Given the description of an element on the screen output the (x, y) to click on. 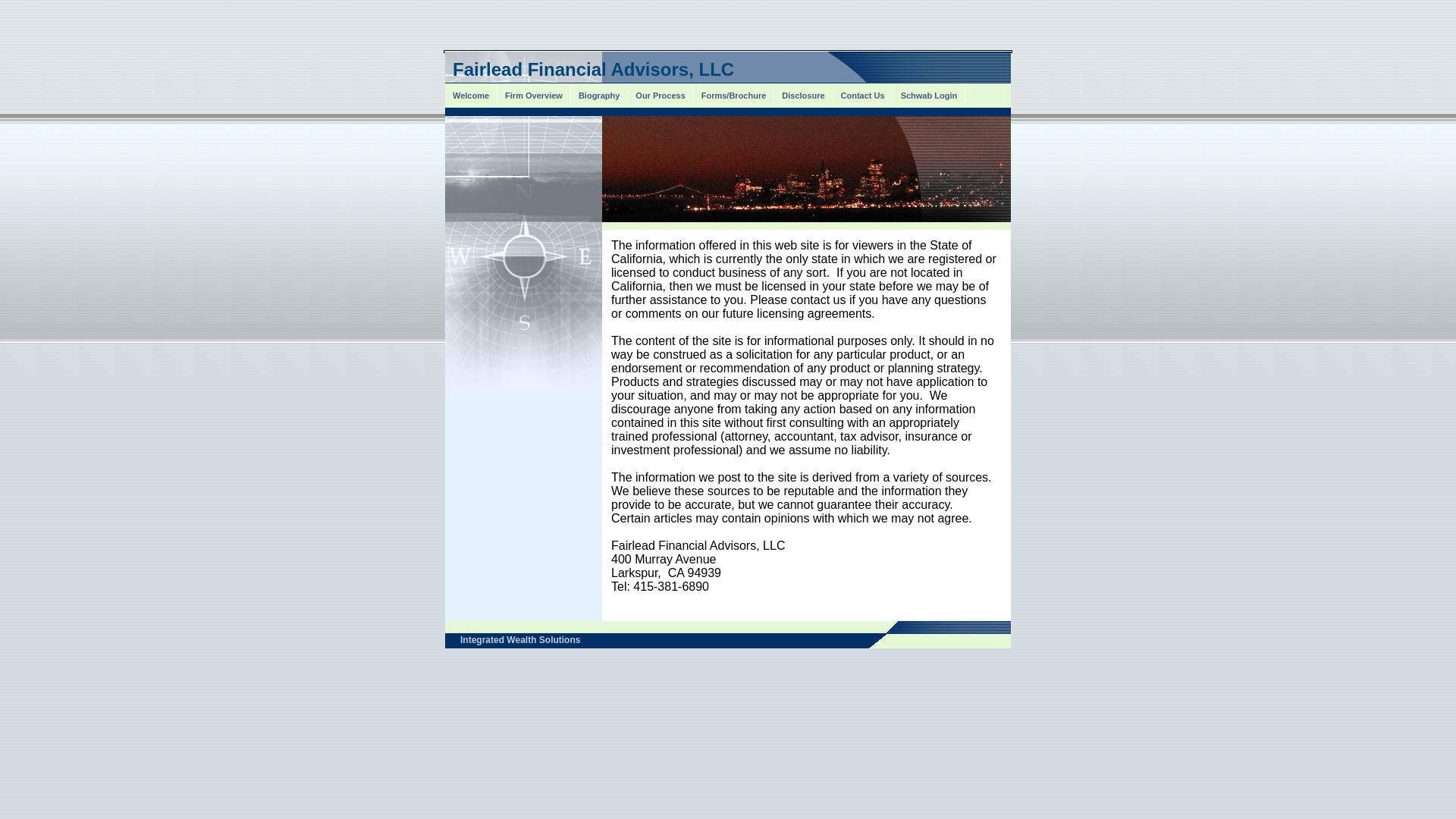
Disclosure (803, 95)
Firm Overview (533, 95)
Our Process (660, 95)
Welcome (471, 95)
Contact Us (862, 95)
Schwab Login (929, 95)
Biography (598, 95)
